Given the description of an element on the screen output the (x, y) to click on. 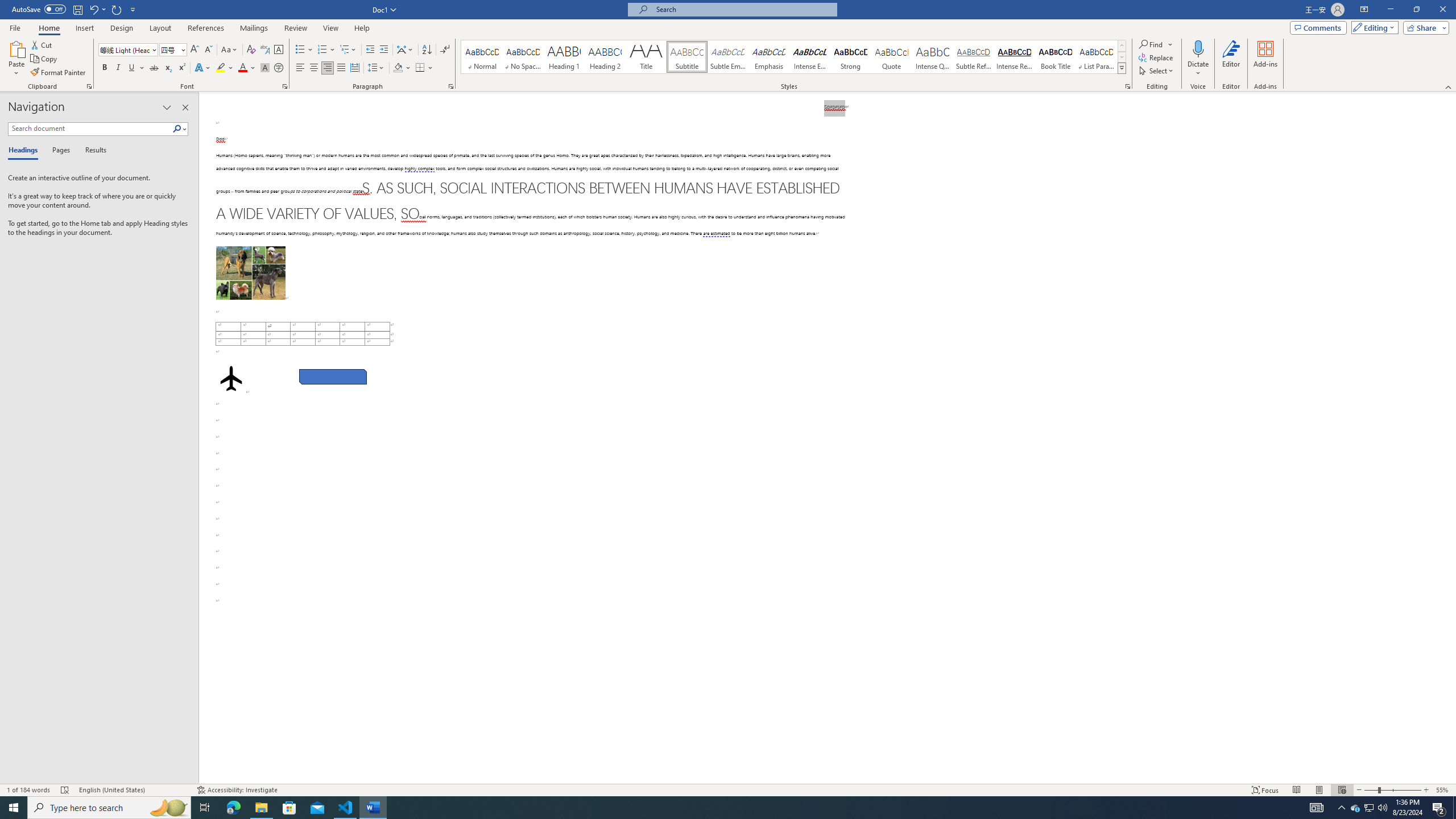
Task Pane Options (167, 107)
Align Left (300, 67)
Find (1151, 44)
Text Highlight Color (224, 67)
